Given the description of an element on the screen output the (x, y) to click on. 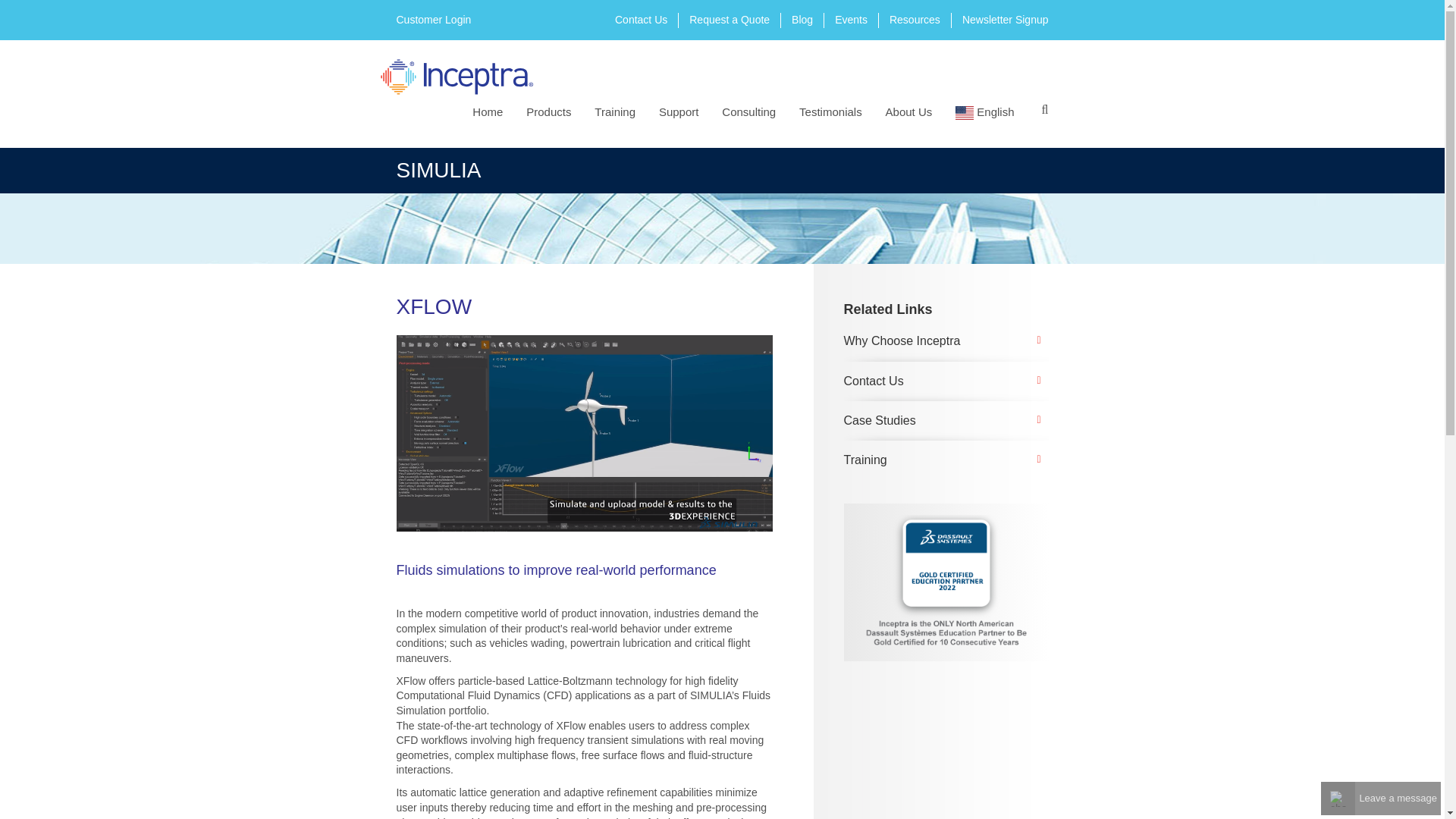
Blog (802, 20)
Newsletter Signup (1005, 20)
Newsletter Signup (1005, 20)
About Us (911, 111)
Customer Login (433, 19)
Blog (802, 20)
Testimonials (833, 111)
Support (681, 111)
Contact Us (640, 20)
Home (490, 111)
Events (850, 20)
Consulting (751, 111)
Resources (914, 20)
Products (551, 111)
Training (617, 111)
